Given the description of an element on the screen output the (x, y) to click on. 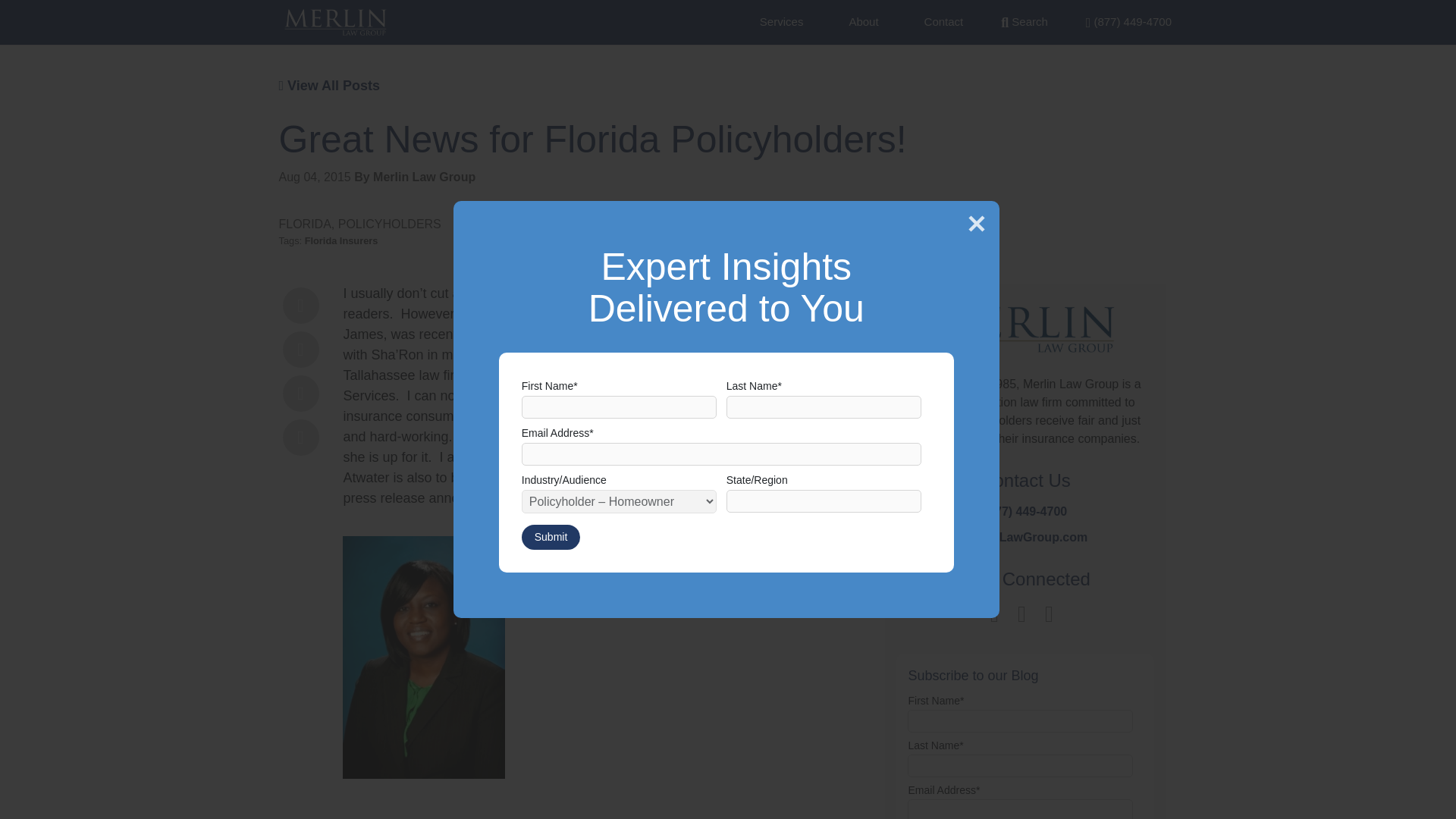
By Merlin Law Group (414, 176)
Search (1024, 21)
Services (781, 21)
Submit (550, 536)
POLICYHOLDERS (389, 223)
MerlinLawGroup.com (1025, 536)
Property Insurance Coverage Law Blog (1025, 339)
Search (1024, 21)
FLORIDA (305, 223)
Contact (943, 21)
Menu (1129, 21)
Property Insurance Coverage Law Blog (335, 22)
About (862, 21)
Florida Insurers (341, 240)
View All Posts (329, 85)
